Given the description of an element on the screen output the (x, y) to click on. 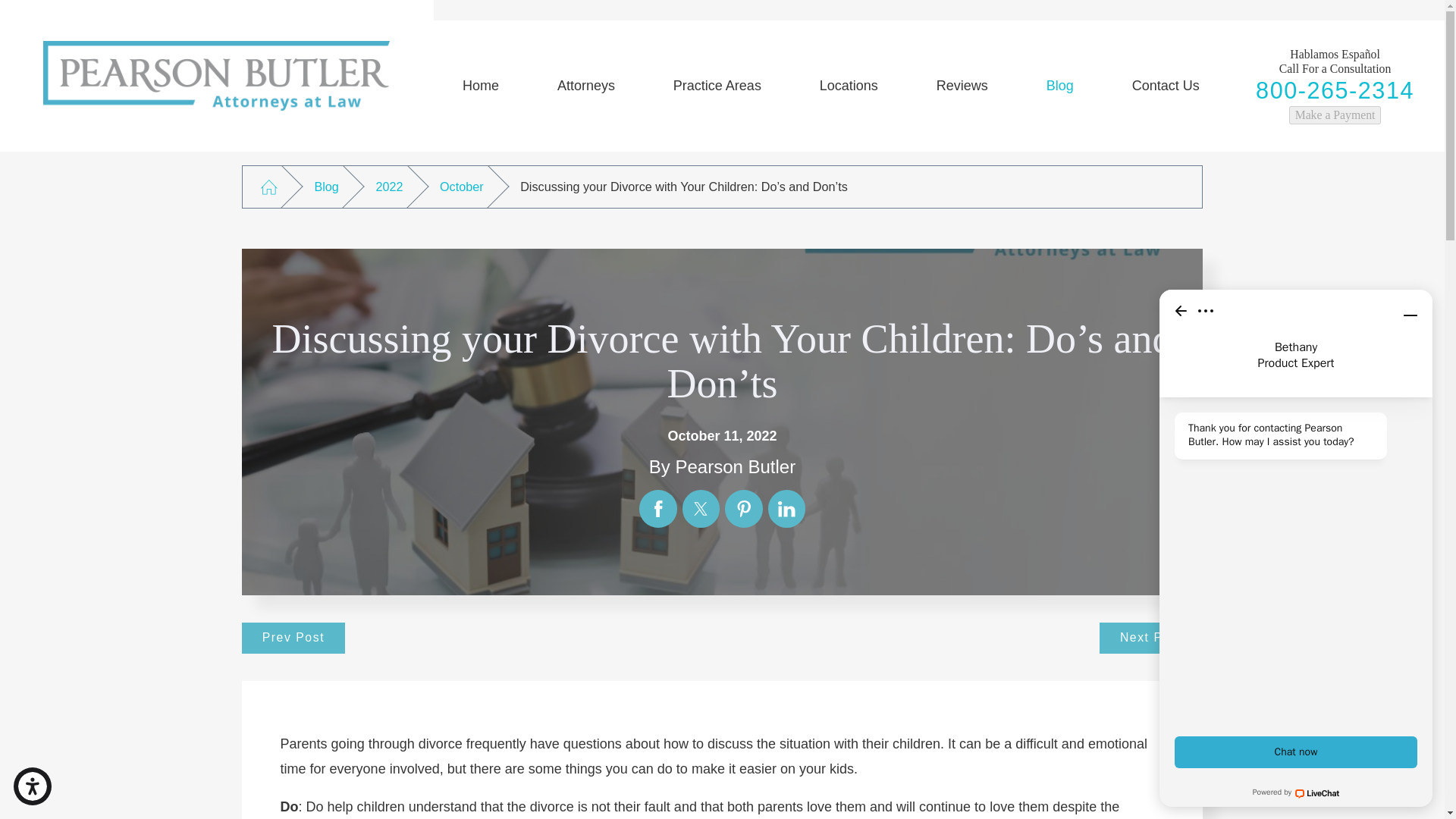
Go Home (269, 186)
Locations (848, 85)
Open the accessibility options menu (31, 786)
Practice Areas (716, 85)
Make a Payment (1334, 115)
Pearson Butler (216, 75)
